Given the description of an element on the screen output the (x, y) to click on. 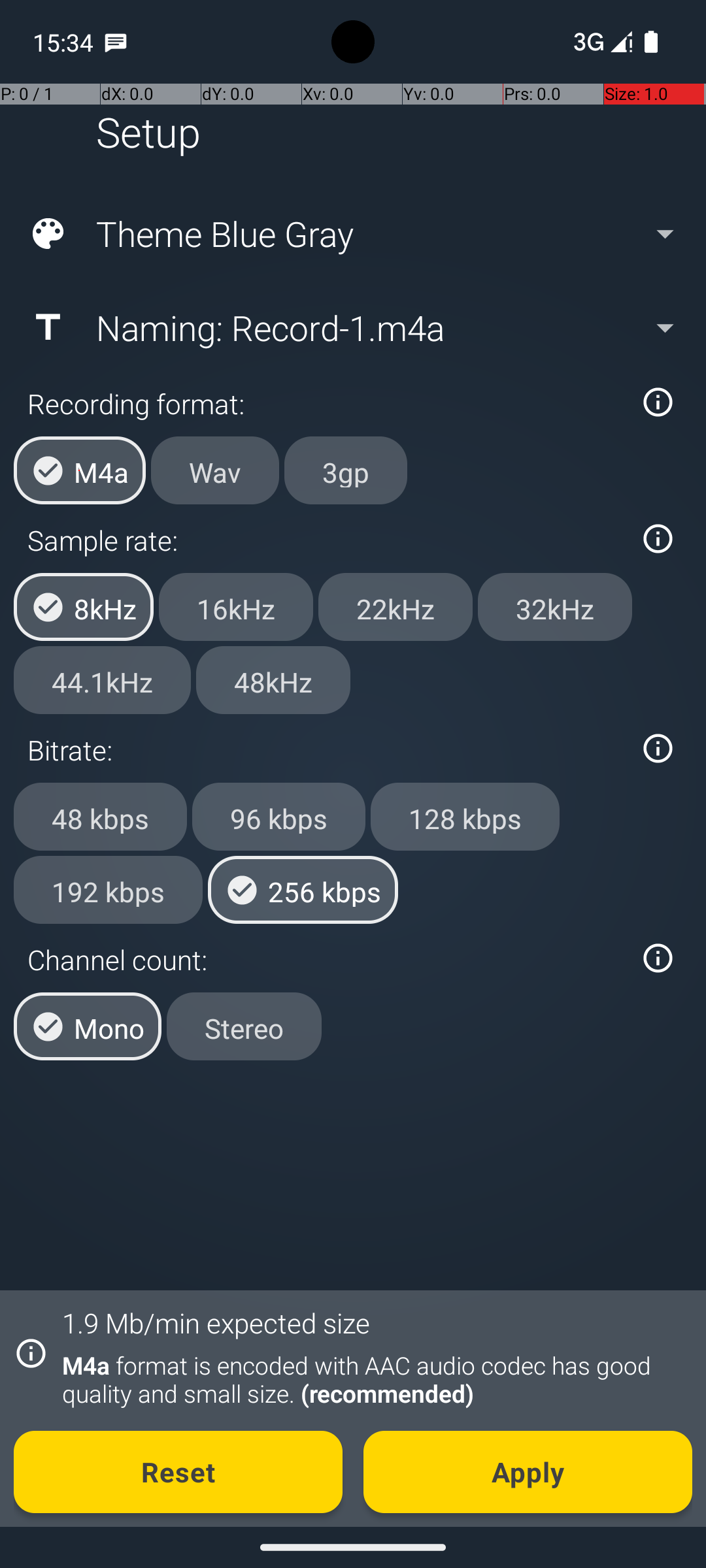
1.9 Mb/min expected size Element type: android.widget.TextView (215, 1322)
